Given the description of an element on the screen output the (x, y) to click on. 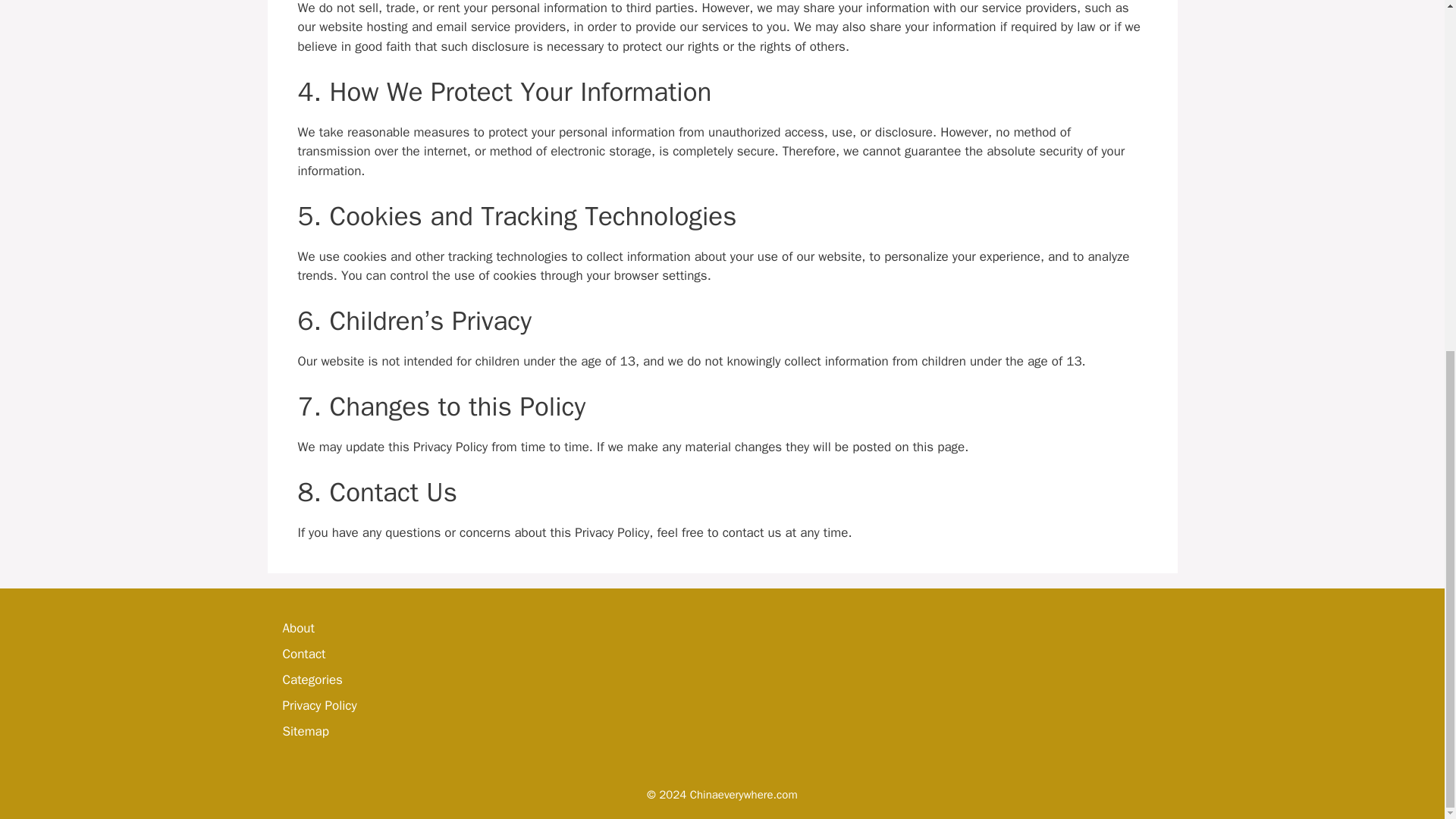
Contact (303, 653)
Sitemap (305, 731)
Privacy Policy (319, 705)
Categories (312, 679)
About (298, 627)
